Given the description of an element on the screen output the (x, y) to click on. 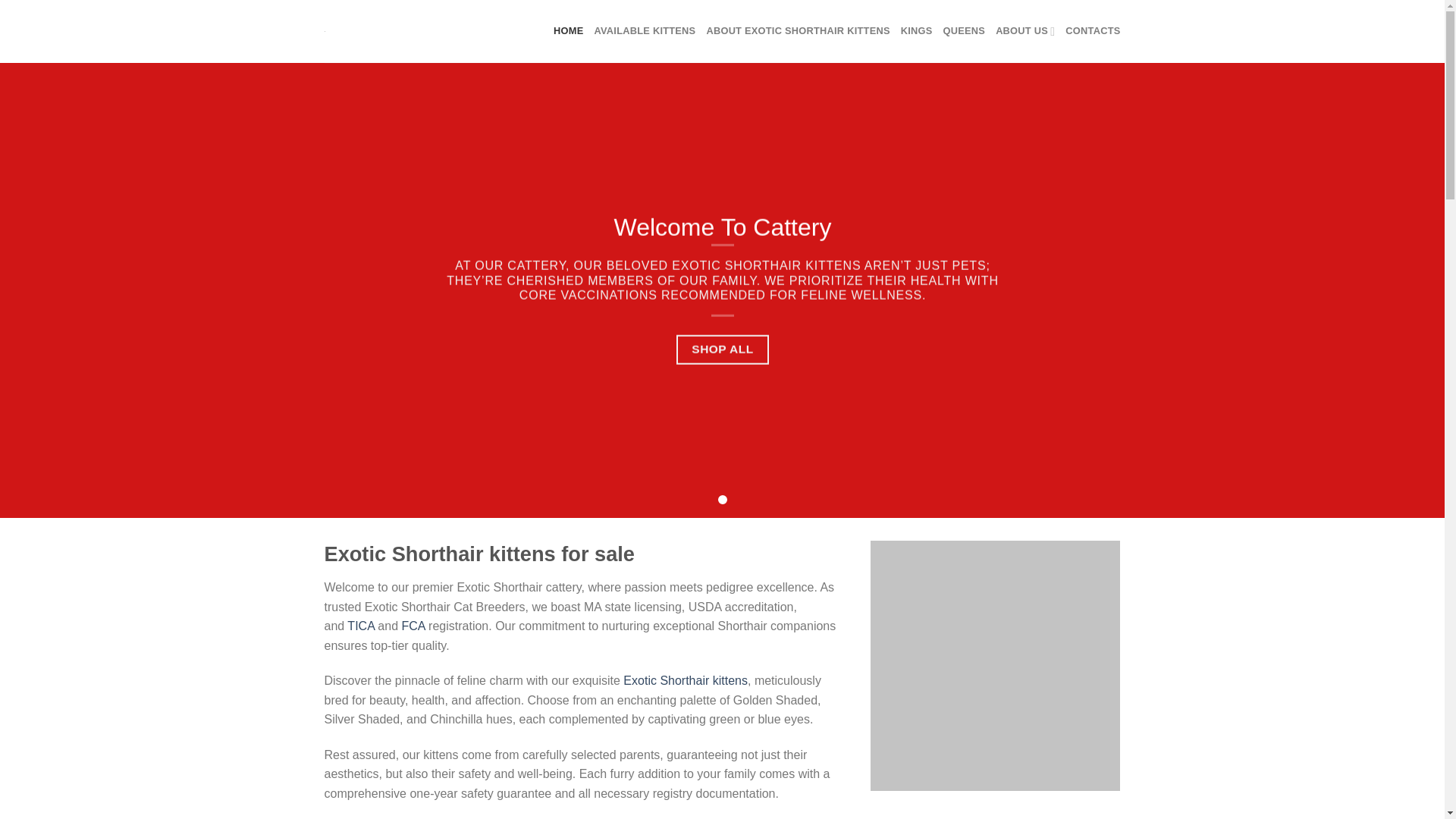
TICA (360, 625)
CONTACTS (1092, 30)
Exotic Shorthair kittens (685, 680)
QUEENS (964, 30)
ABOUT US (1024, 30)
HOME (568, 30)
AVAILABLE KITTENS (644, 30)
FCA (413, 625)
KINGS (917, 30)
